Given the description of an element on the screen output the (x, y) to click on. 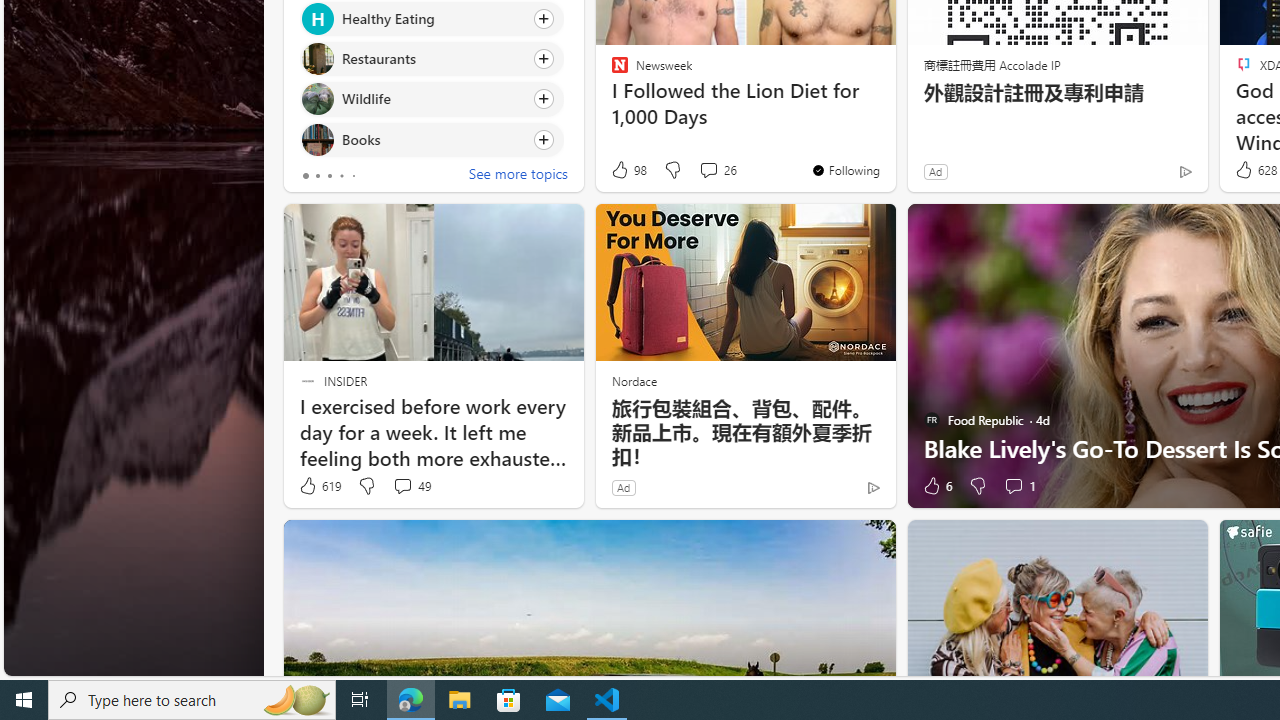
Click to follow topic Restaurants (431, 59)
tab-2 (328, 175)
Click to follow topic Books (431, 138)
6 Like (936, 485)
tab-3 (341, 175)
tab-4 (352, 175)
Wildlife (317, 98)
View comments 26 Comment (708, 169)
619 Like (319, 485)
tab-0 (305, 175)
View comments 49 Comment (402, 485)
Restaurants (317, 59)
View comments 49 Comment (411, 485)
